Given the description of an element on the screen output the (x, y) to click on. 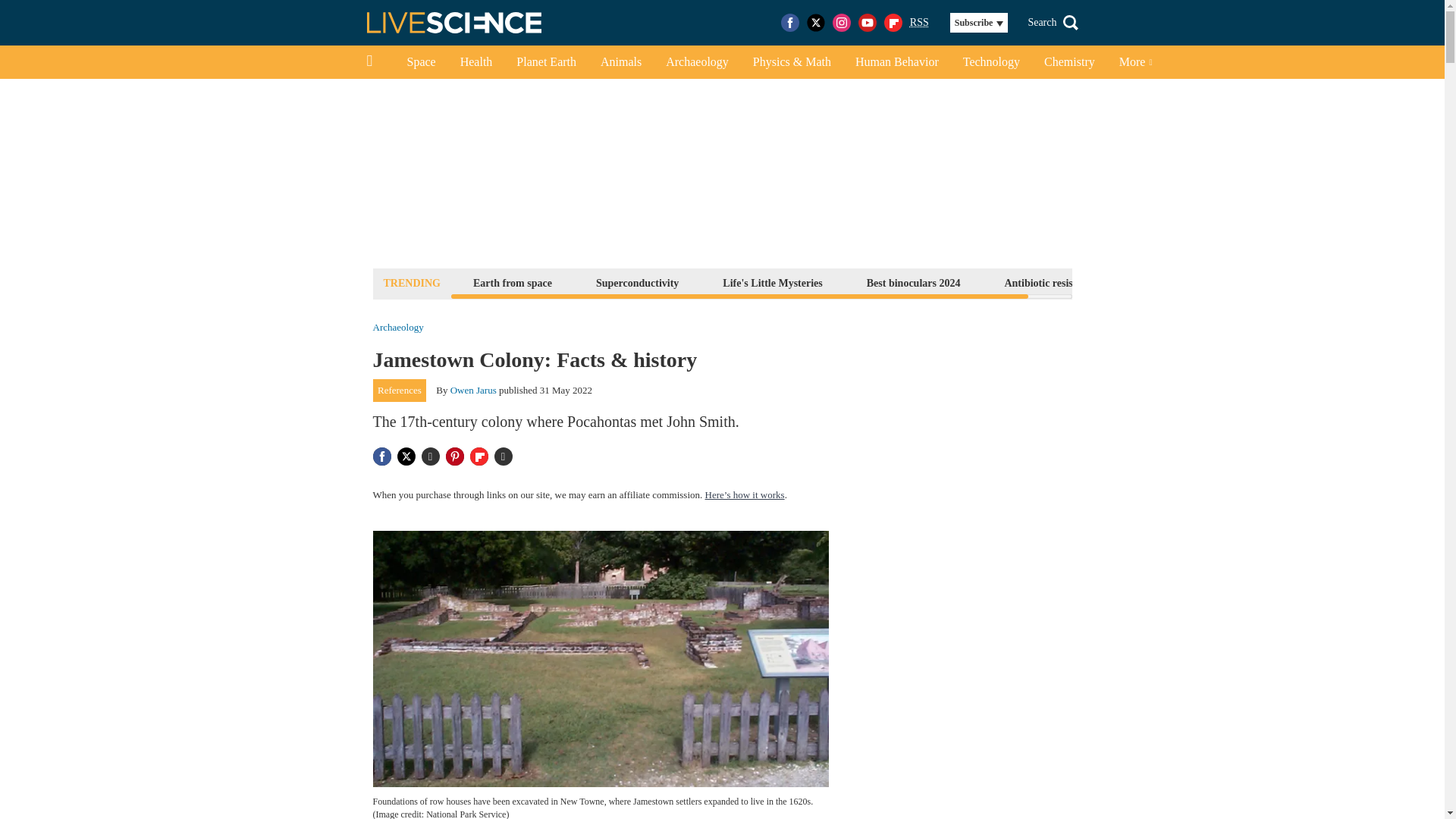
Technology (991, 61)
Human Behavior (896, 61)
Life's Little Mysteries (772, 282)
Earth from space (512, 282)
Planet Earth (545, 61)
Animals (620, 61)
Chemistry (1069, 61)
Archaeology (397, 327)
Owen Jarus (472, 389)
Really Simple Syndication (919, 21)
